Given the description of an element on the screen output the (x, y) to click on. 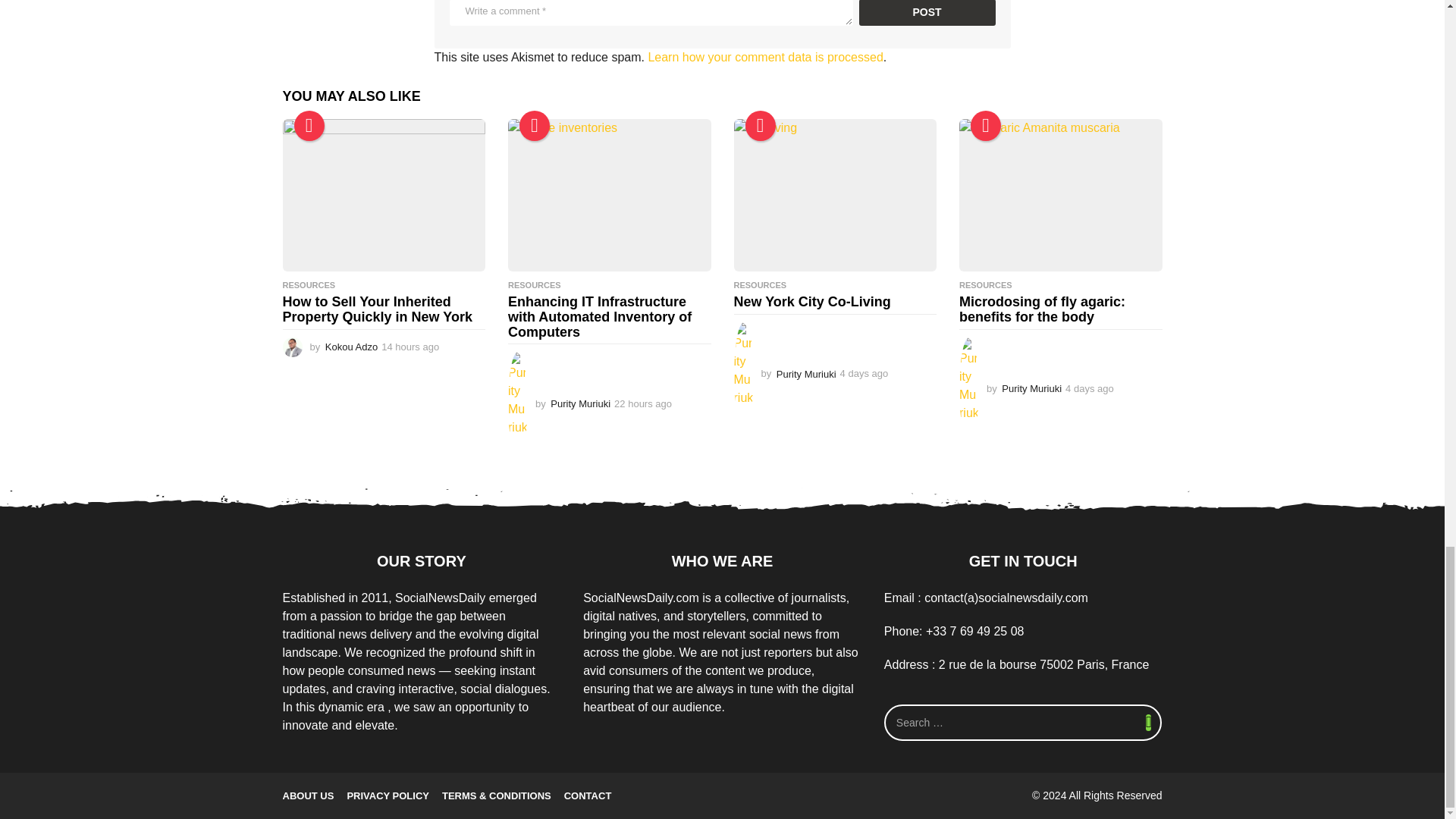
How to Sell Your Inherited Property Quickly in New York (383, 194)
Hot (759, 125)
Post (926, 12)
Learn how your comment data is processed (764, 56)
Post (926, 12)
Microdosing of fly agaric: benefits for the body (1060, 194)
Trending (534, 125)
Trending (309, 125)
Hot (986, 125)
